Given the description of an element on the screen output the (x, y) to click on. 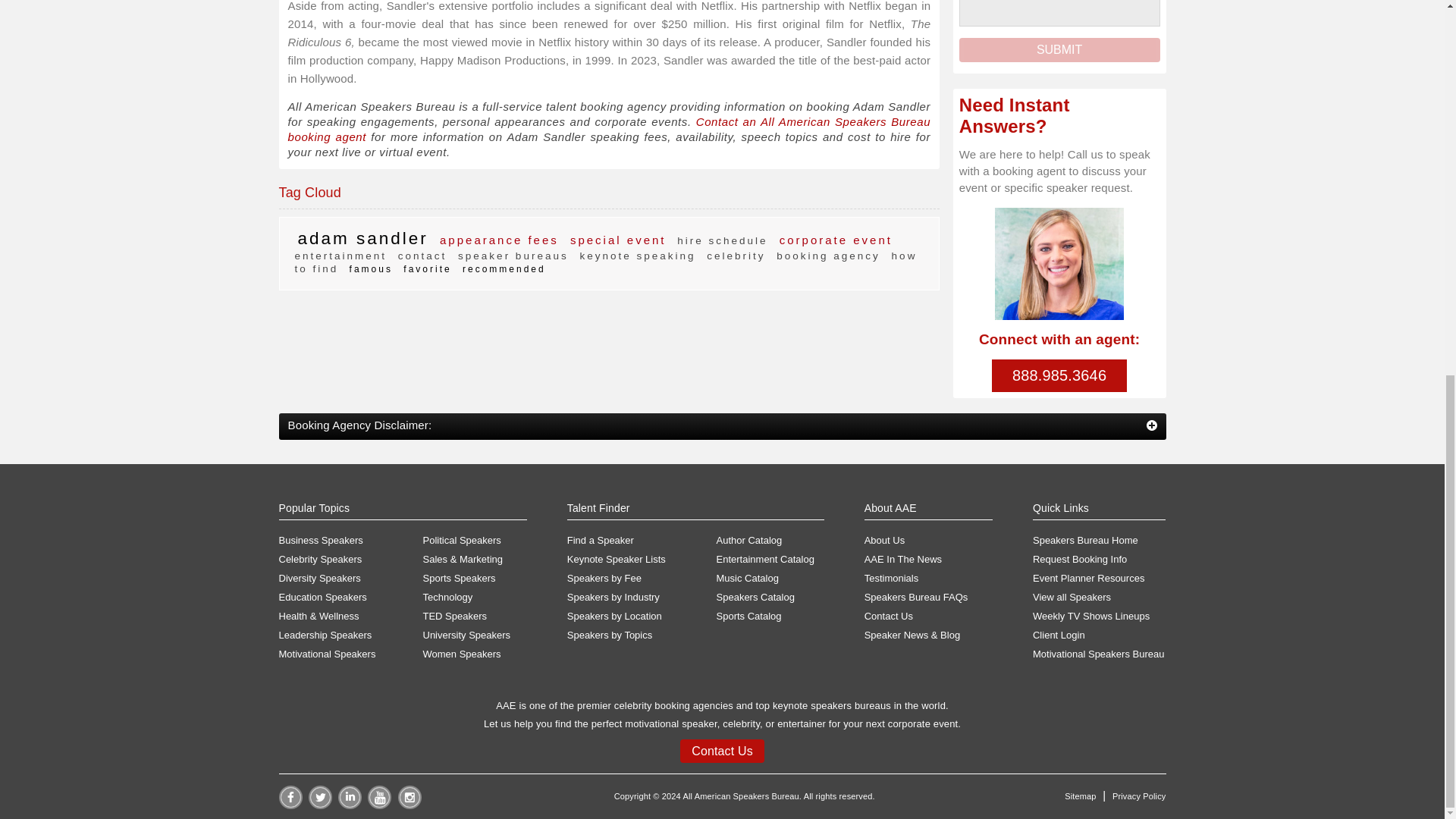
SUBMIT (1059, 49)
Instagram (409, 804)
Business Speakers (351, 540)
888.985.3646 (1058, 375)
Linkedin (349, 804)
AAE Team (1059, 264)
You Tube (379, 804)
Motivational Speakers (351, 653)
Facebook (290, 804)
Celebrity Speakers (351, 559)
Education Speakers (351, 597)
Twitter (319, 804)
Contact an All American Speakers Bureau booking agent (609, 129)
Political Speakers (475, 540)
Leadership Speakers (351, 635)
